Given the description of an element on the screen output the (x, y) to click on. 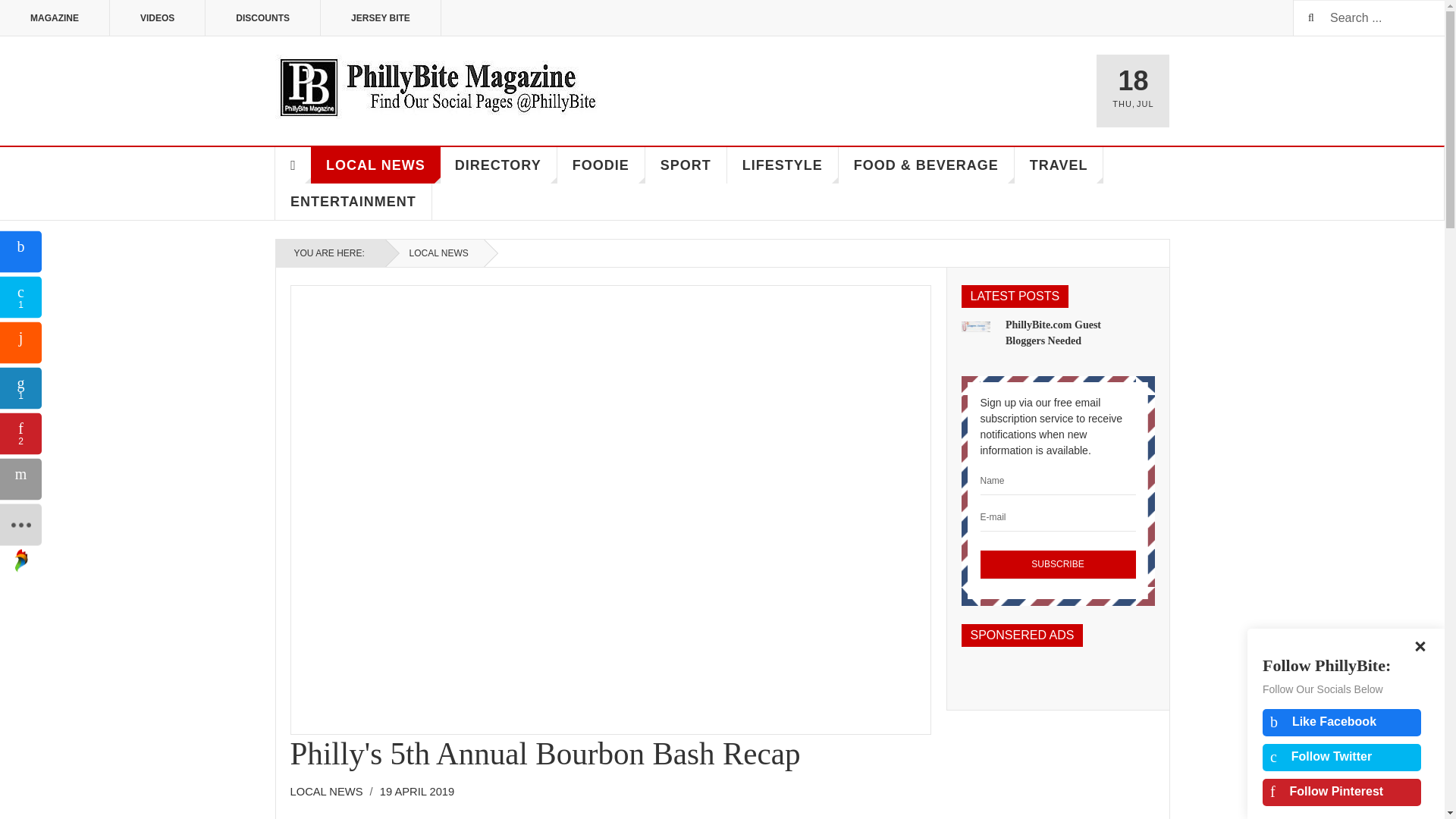
ENTERTAINMENT (353, 201)
Subscribe (1057, 564)
LOCAL NEWS (376, 165)
LOCAL NEWS (325, 791)
VIDEOS (157, 18)
HOME (293, 165)
LOCAL NEWS (434, 252)
PhillyBite Magazine (436, 86)
JERSEY BITE (380, 18)
Parent Category:  (330, 791)
SPORT (685, 165)
MAGAZINE (55, 18)
DIRECTORY (498, 165)
LIFESTYLE (782, 165)
